Given the description of an element on the screen output the (x, y) to click on. 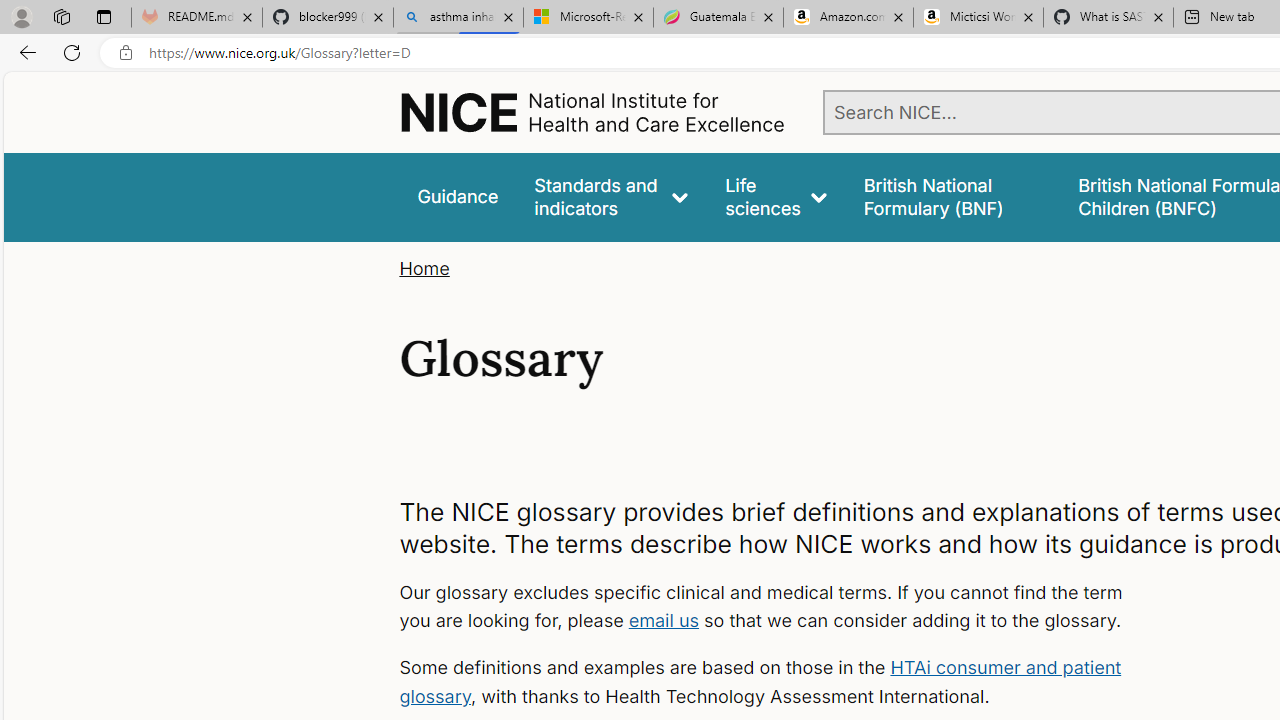
HTAi consumer and patient glossary (760, 681)
Home (424, 268)
Workspaces (61, 16)
Tab actions menu (104, 16)
View site information (125, 53)
Personal Profile (21, 16)
email us (664, 620)
Life sciences (776, 196)
asthma inhaler - Search (458, 17)
Guidance (458, 196)
